Given the description of an element on the screen output the (x, y) to click on. 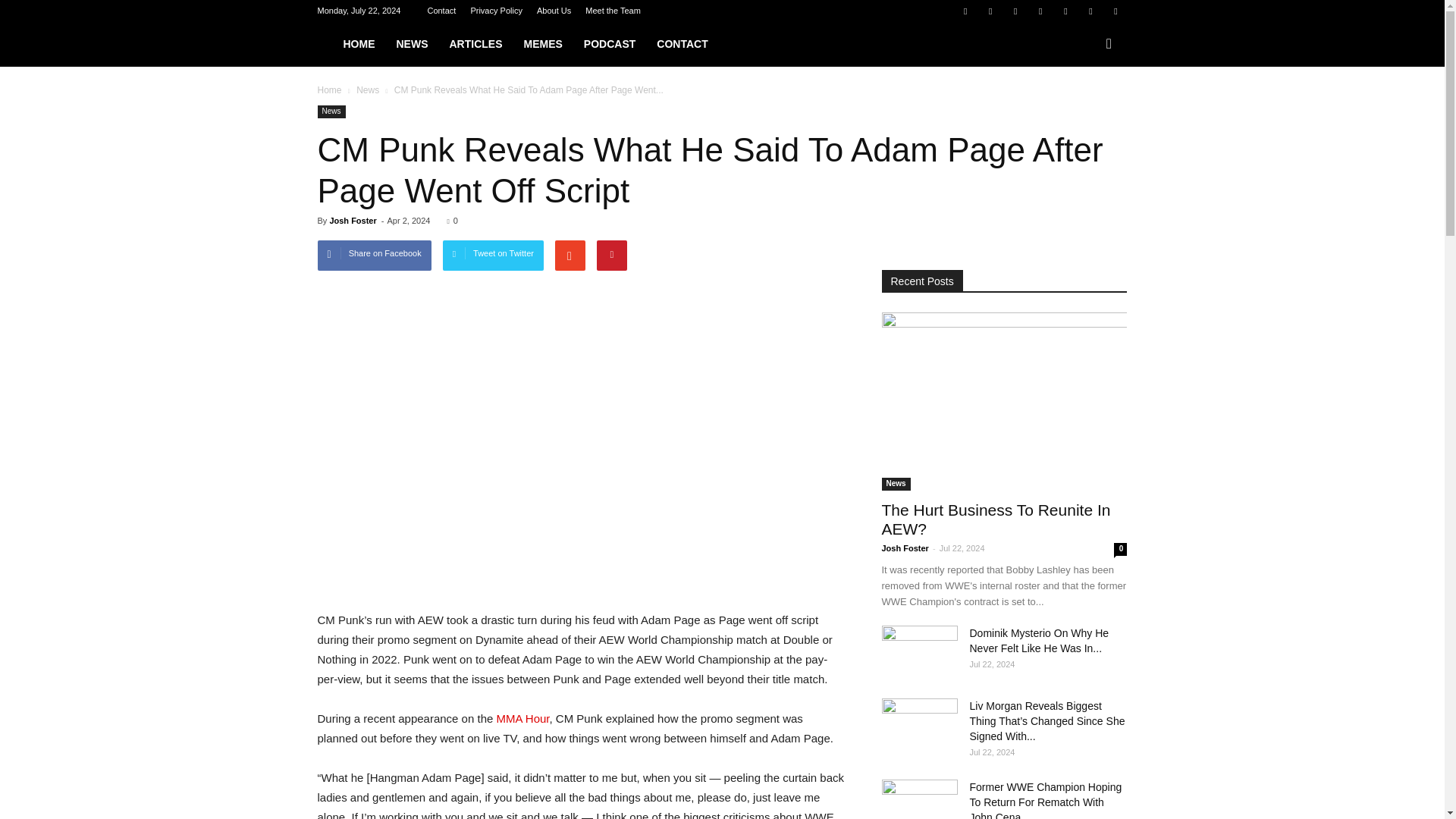
CONTACT (681, 43)
About Us (553, 10)
PODCAST (609, 43)
NEWS (411, 43)
ARTICLES (475, 43)
Meet the Team (612, 10)
HOME (358, 43)
Privacy Policy (495, 10)
Soundcloud (1065, 10)
Facebook (964, 10)
Instagram (1015, 10)
MEMES (542, 43)
Twitter (1090, 10)
Contact (440, 10)
Pinterest (1040, 10)
